Given the description of an element on the screen output the (x, y) to click on. 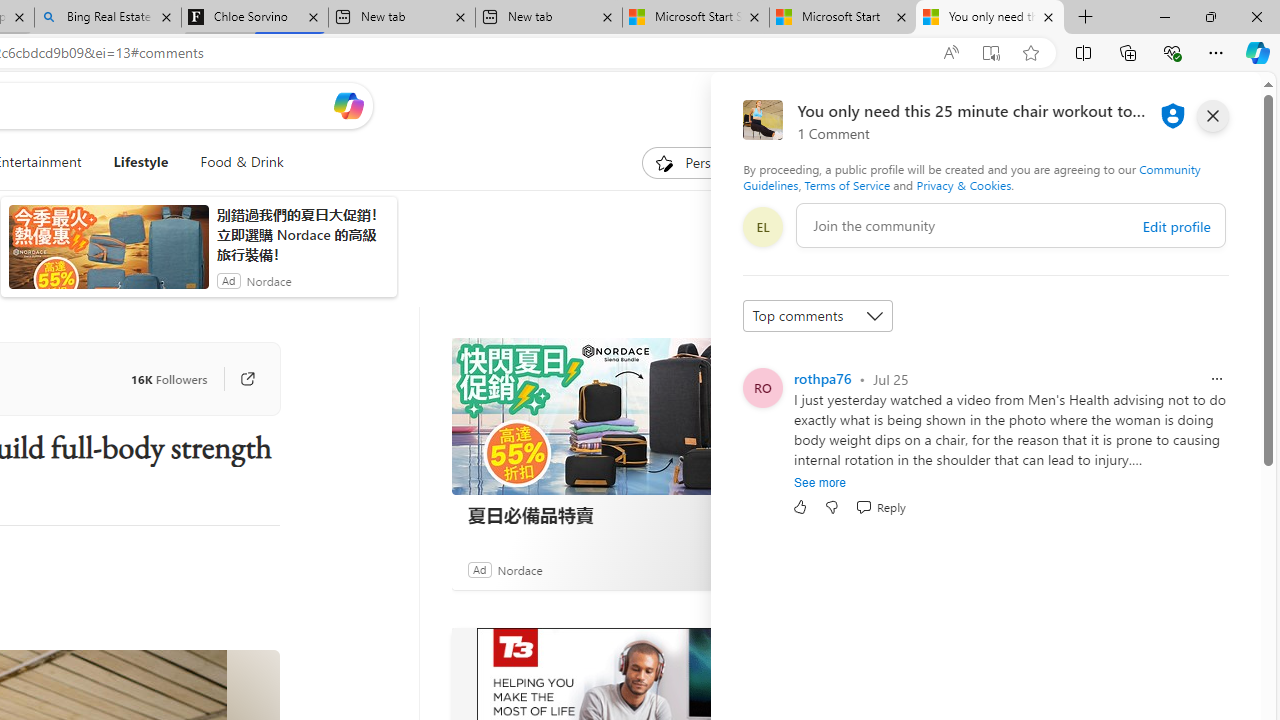
Reply Reply Comment (880, 507)
Terms of Service (846, 184)
comment-box (1011, 225)
Microsoft rewards (1137, 105)
Lifestyle (140, 162)
rothpa76 (822, 378)
Dislike (831, 507)
Bing Real Estate - Home sales and rental listings (107, 17)
Food & Drink (241, 162)
